Given the description of an element on the screen output the (x, y) to click on. 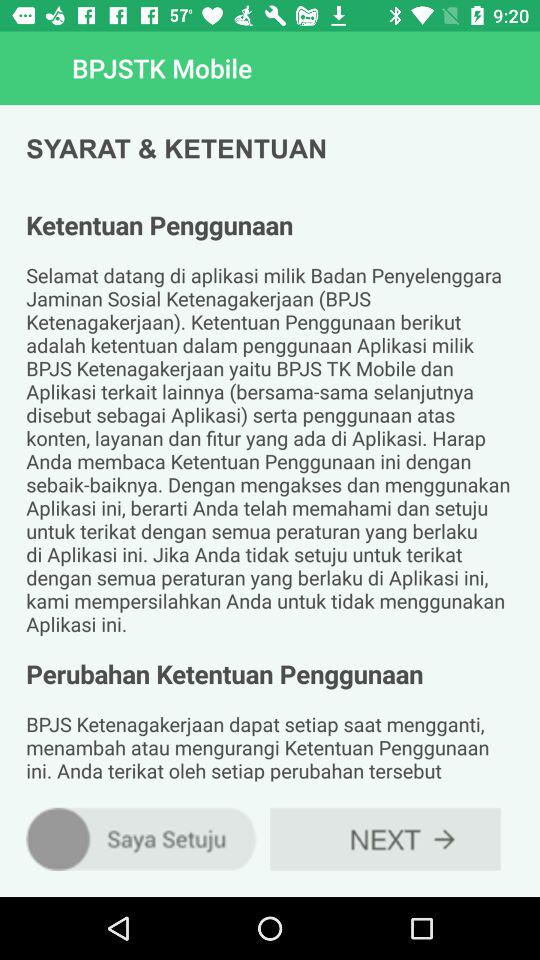
turn on the item at the bottom left corner (141, 838)
